Given the description of an element on the screen output the (x, y) to click on. 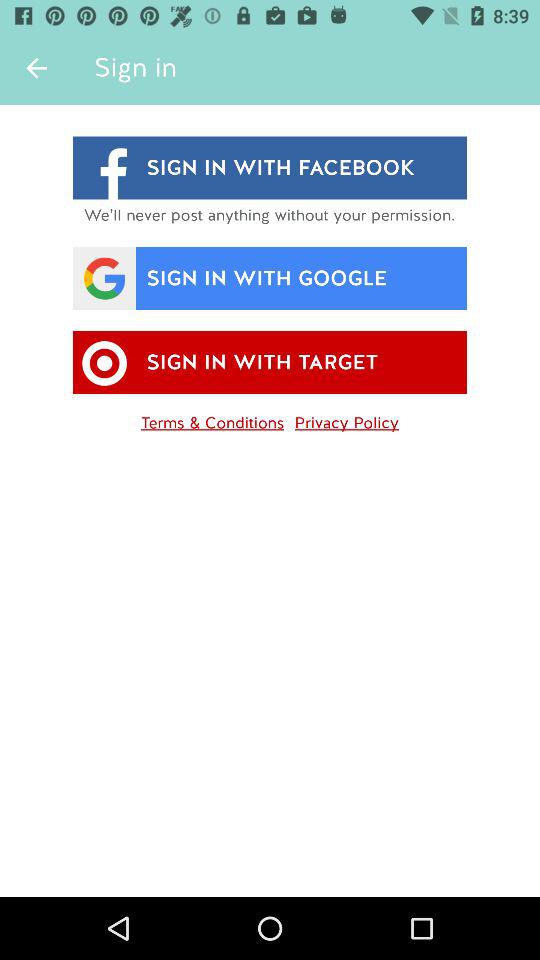
tap icon next to terms & conditions item (346, 419)
